Given the description of an element on the screen output the (x, y) to click on. 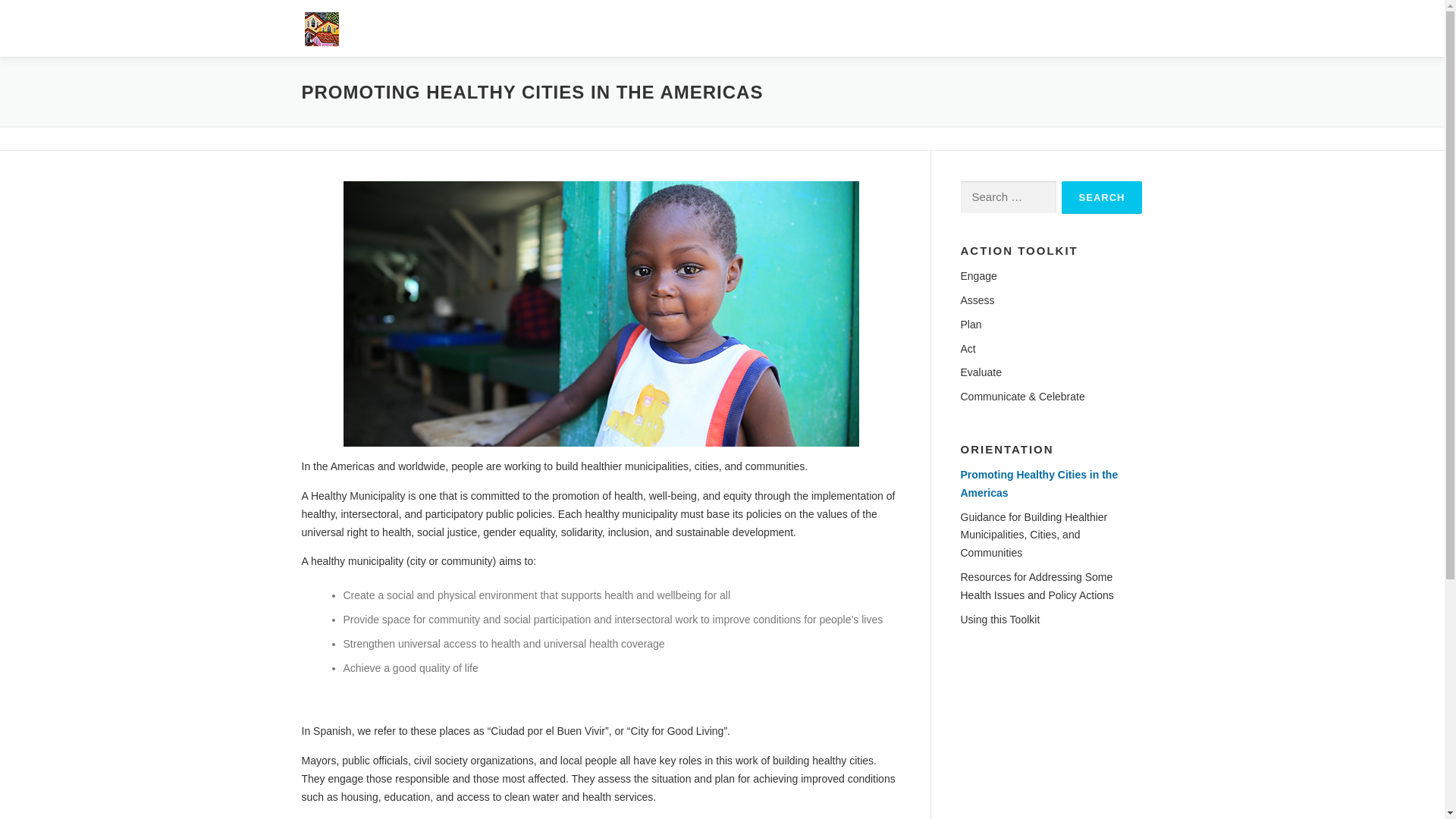
Search (1101, 196)
Using this Toolkit (999, 619)
Act (967, 348)
Plan (970, 324)
ABOUT (1045, 28)
ACTION TOOLKIT (852, 28)
Promoting Healthy Cities in the Americas (1038, 483)
Evaluate (980, 372)
Engage (977, 275)
Search (1101, 196)
Assess (976, 300)
HEALTHY CITIES ACTION TOOLKIT (495, 26)
Search (1101, 196)
